Given the description of an element on the screen output the (x, y) to click on. 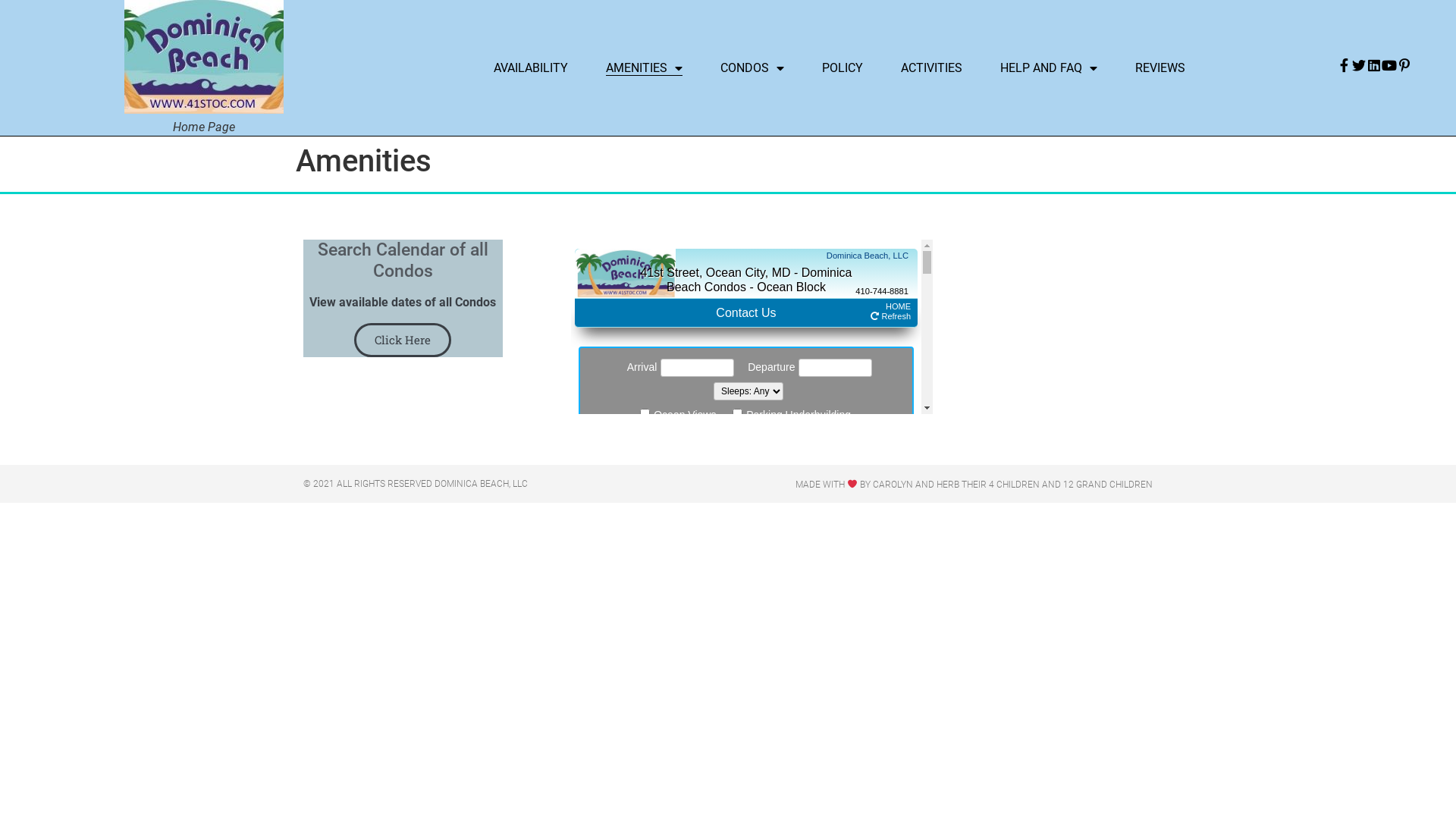
AMENITIES Element type: text (643, 67)
HELP AND FAQ Element type: text (1048, 67)
POLICY Element type: text (842, 67)
5 41st Street Ocean City md Element type: hover (1049, 293)
REVIEWS Element type: text (1160, 67)
ACTIVITIES Element type: text (931, 67)
AVAILABILITY Element type: text (530, 67)
DOMINICA BEACH wide Element type: hover (203, 56)
CONDOS Element type: text (752, 67)
